Given the description of an element on the screen output the (x, y) to click on. 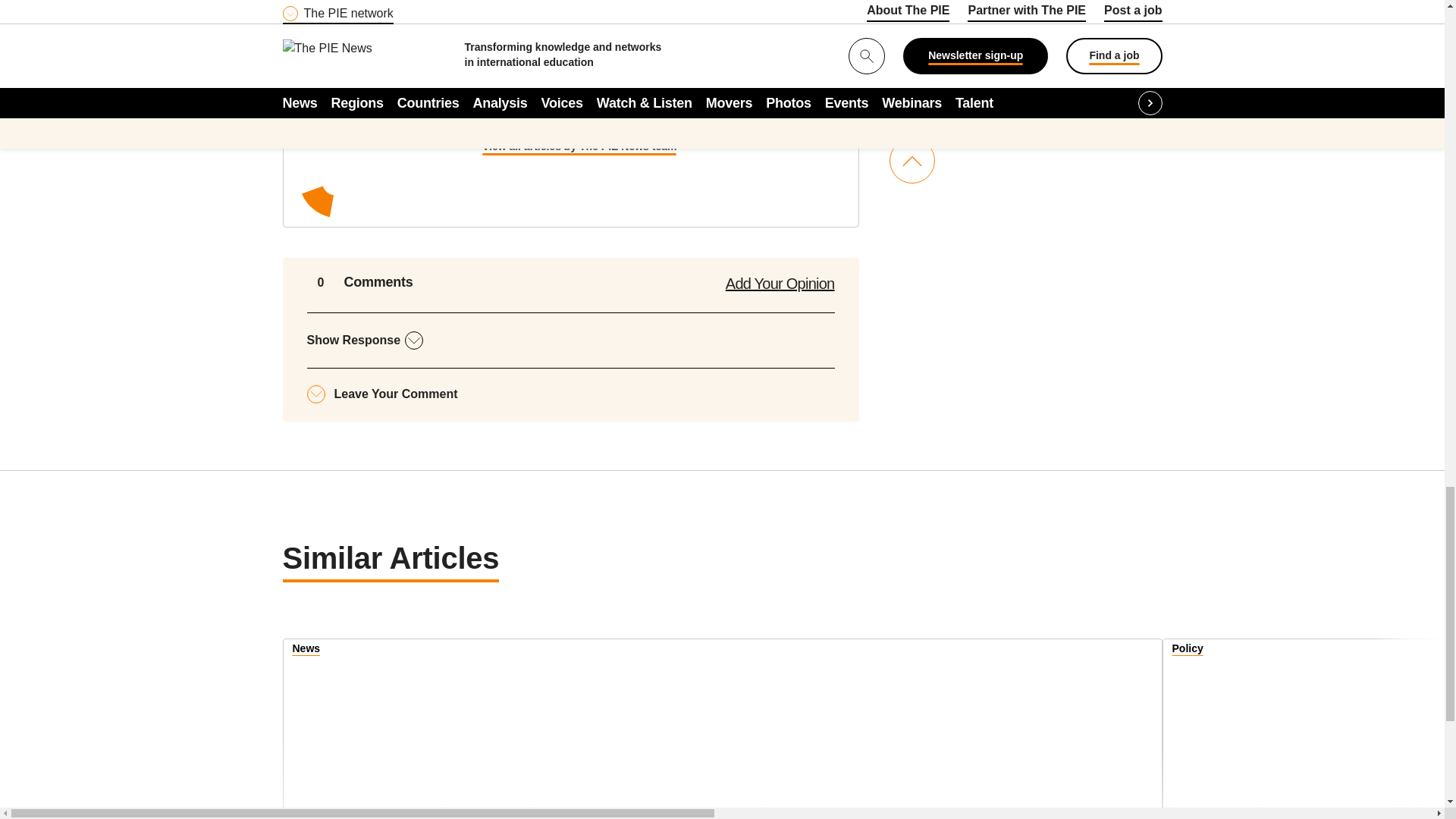
US State Department seeks to cut student visa bureaucracy (1309, 729)
View all News articles (306, 650)
View all Policy articles (1187, 650)
